Given the description of an element on the screen output the (x, y) to click on. 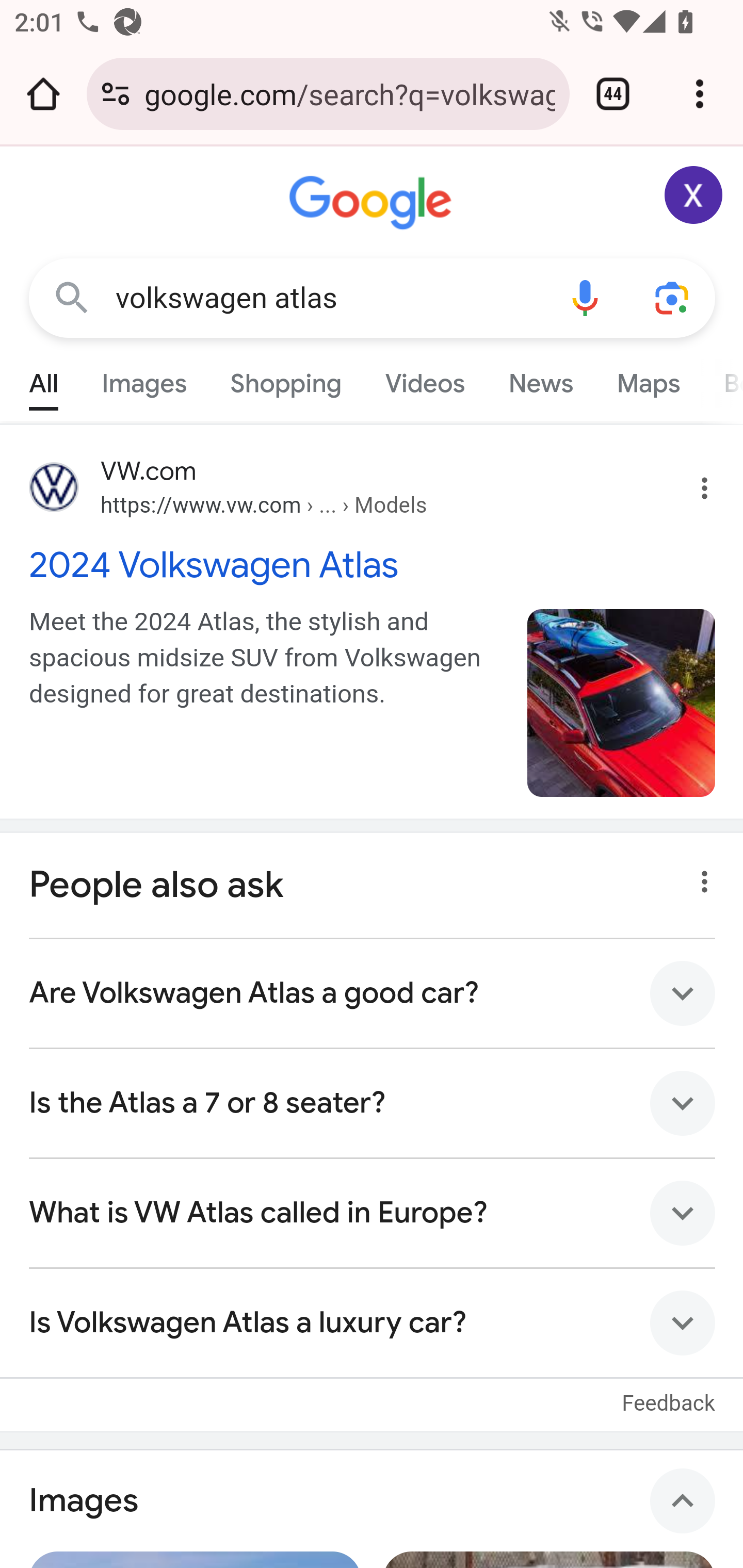
Open the home page (43, 93)
Connection is secure (115, 93)
Switch or close tabs (612, 93)
Customize and control Google Chrome (699, 93)
Google (372, 203)
Google Account: Xiaoran (zxrappiumtest@gmail.com) (694, 195)
Google Search (71, 296)
Search using your camera or photos (672, 296)
volkswagen atlas (328, 297)
Images (144, 378)
Shopping (285, 378)
Videos (424, 378)
News (540, 378)
Maps (647, 378)
2024 Volkswagen Atlas (372, 564)
atlas (621, 703)
About this result (698, 876)
Are Volkswagen Atlas a good car? (372, 993)
Is the Atlas a 7 or 8 seater? (372, 1102)
What is VW Atlas called in Europe? (372, 1211)
Is Volkswagen Atlas a luxury car? (372, 1321)
Feedback (669, 1392)
Images (371, 1500)
